Given the description of an element on the screen output the (x, y) to click on. 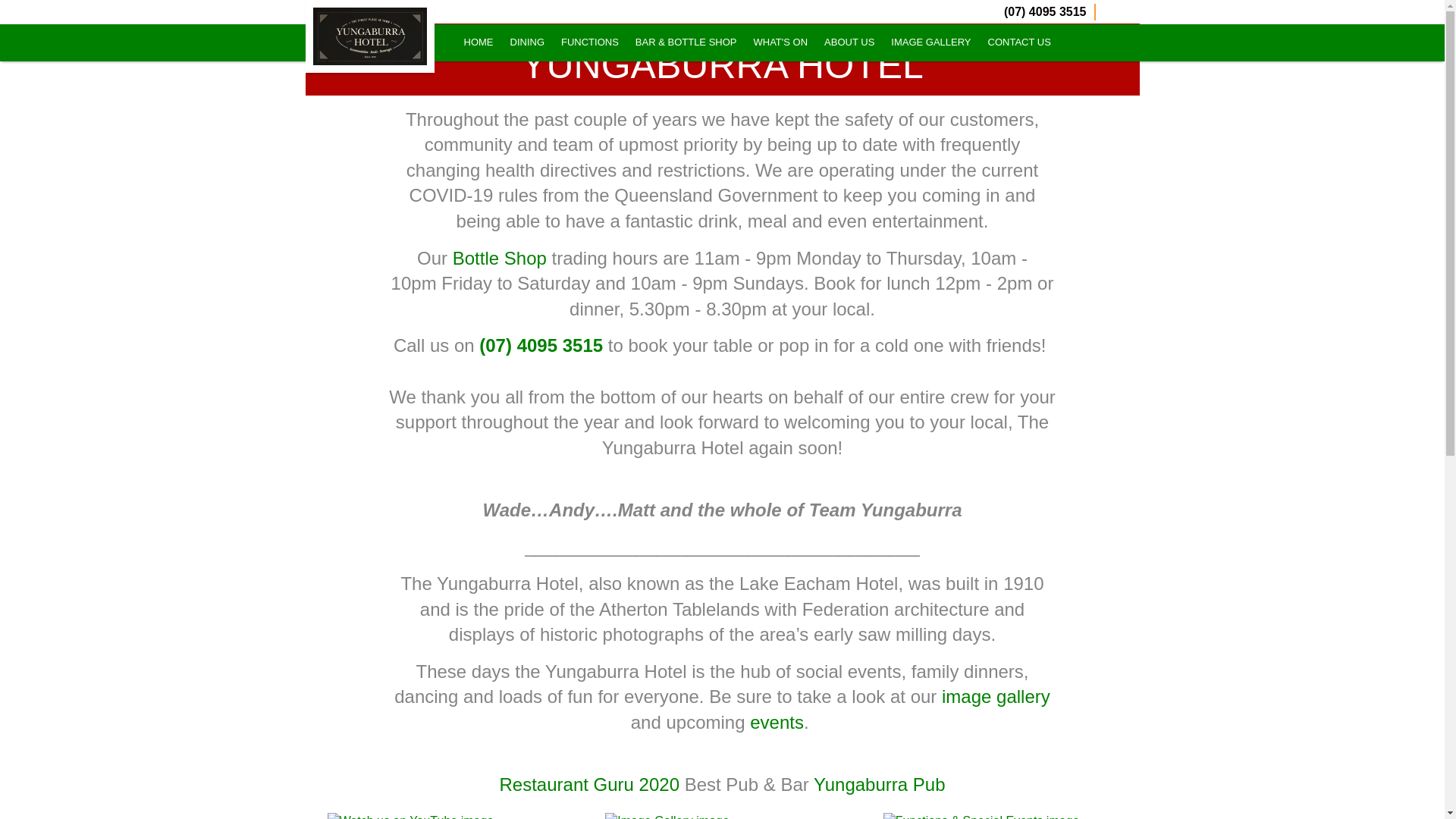
WHAT'S ON (781, 42)
FUNCTIONS (589, 42)
ABOUT US (849, 42)
Yungaburra Hotel Dining Room (526, 42)
Yungaburra Pub (878, 783)
Restaurant Guru 2020 (589, 783)
DINING (526, 42)
Bottle Shop (499, 258)
Trip Advisor (1130, 12)
Yungaburra Hotel (368, 36)
